Given the description of an element on the screen output the (x, y) to click on. 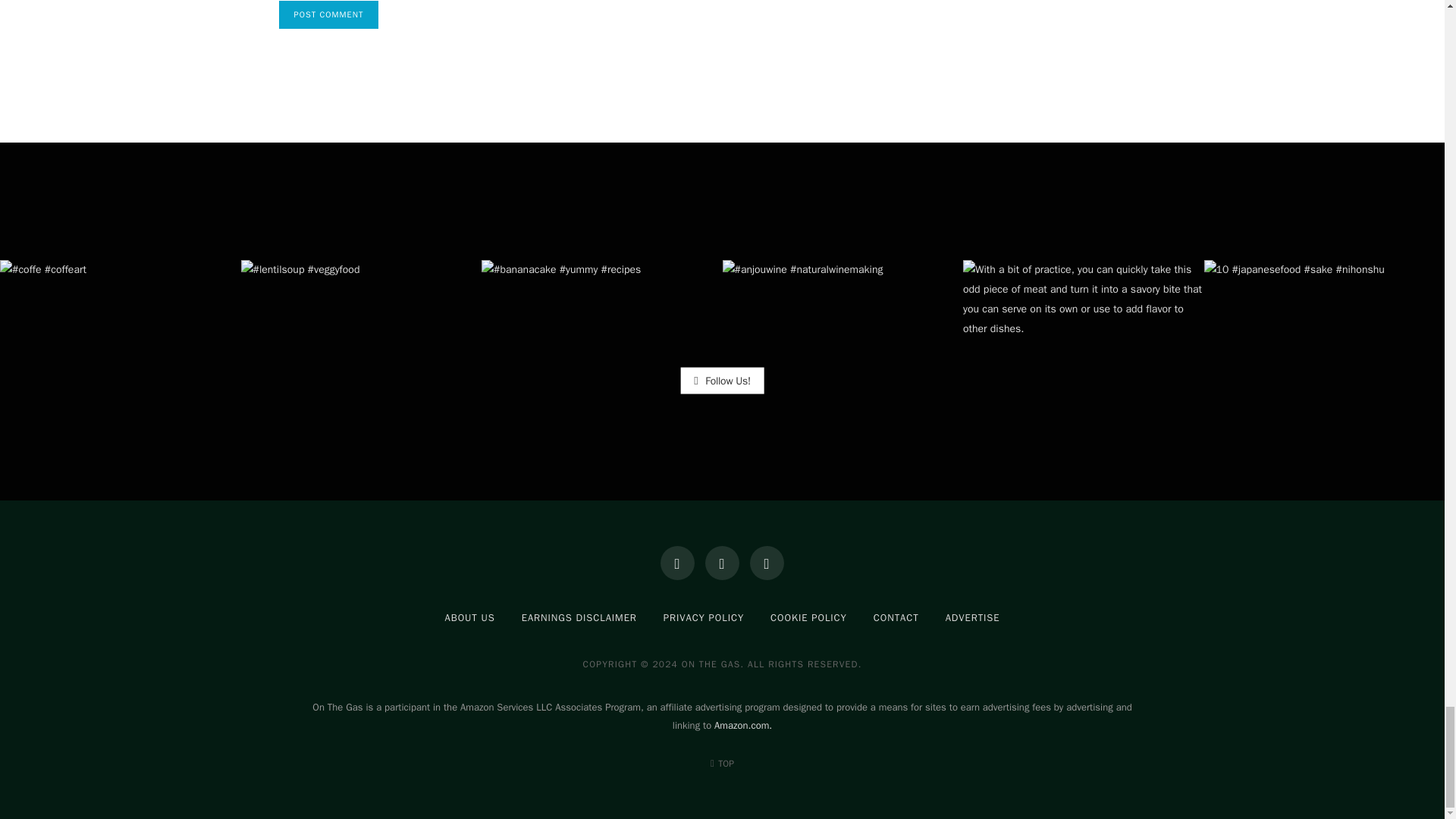
Post Comment (328, 14)
